Given the description of an element on the screen output the (x, y) to click on. 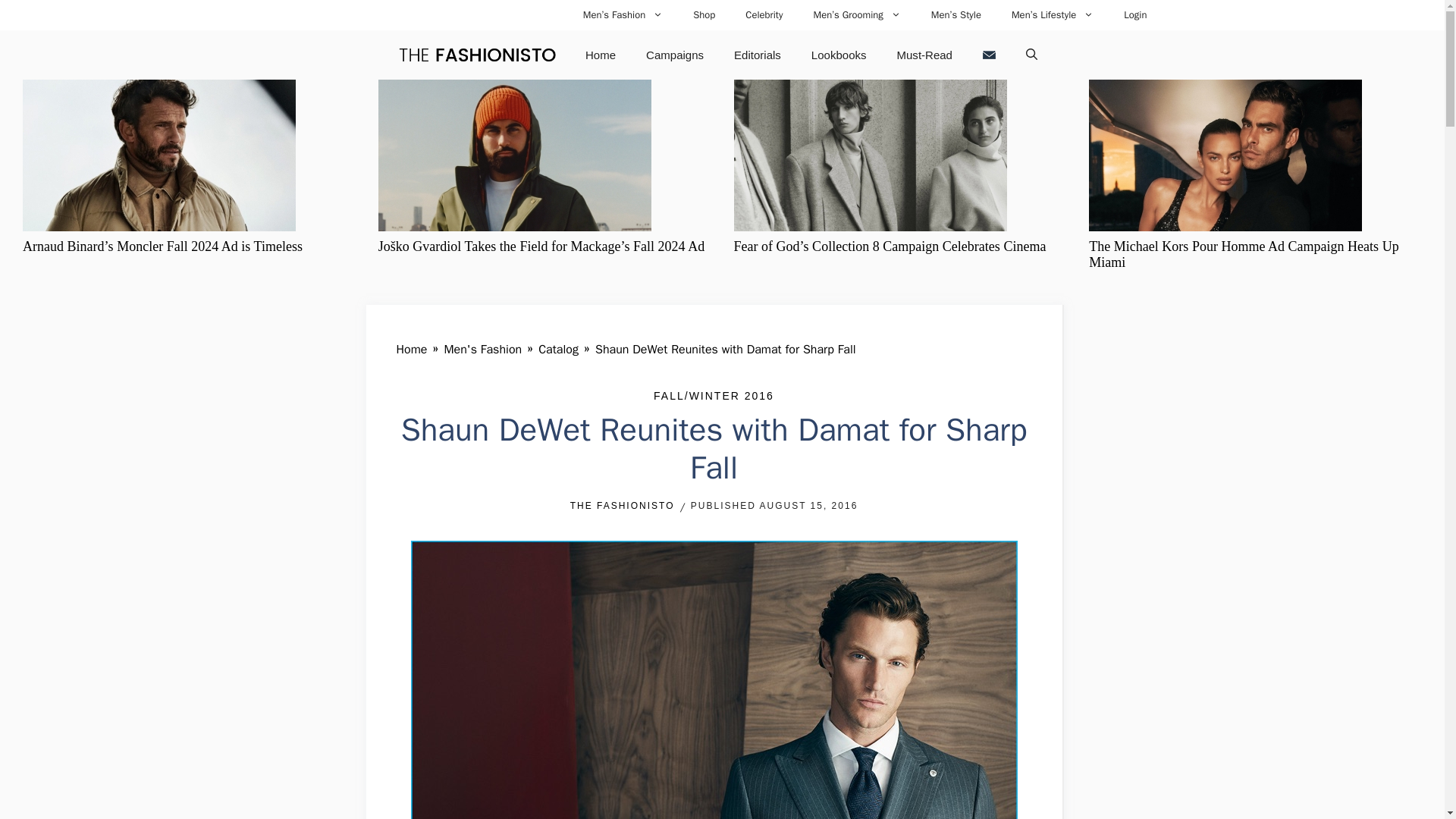
The Fashionisto (476, 54)
The Michael Kors Pour Homme Ad Campaign Heats Up Miami (1243, 254)
Celebrity (763, 15)
Subscribe (989, 53)
Home (600, 53)
Men's Fashion (482, 349)
Shop (704, 15)
Fashion Editorials (757, 53)
Lookbooks (839, 53)
Login (1134, 15)
Must-Read (925, 53)
Catalog (558, 349)
Login (1134, 15)
Fashion Advertising Campaigns (674, 53)
